Given the description of an element on the screen output the (x, y) to click on. 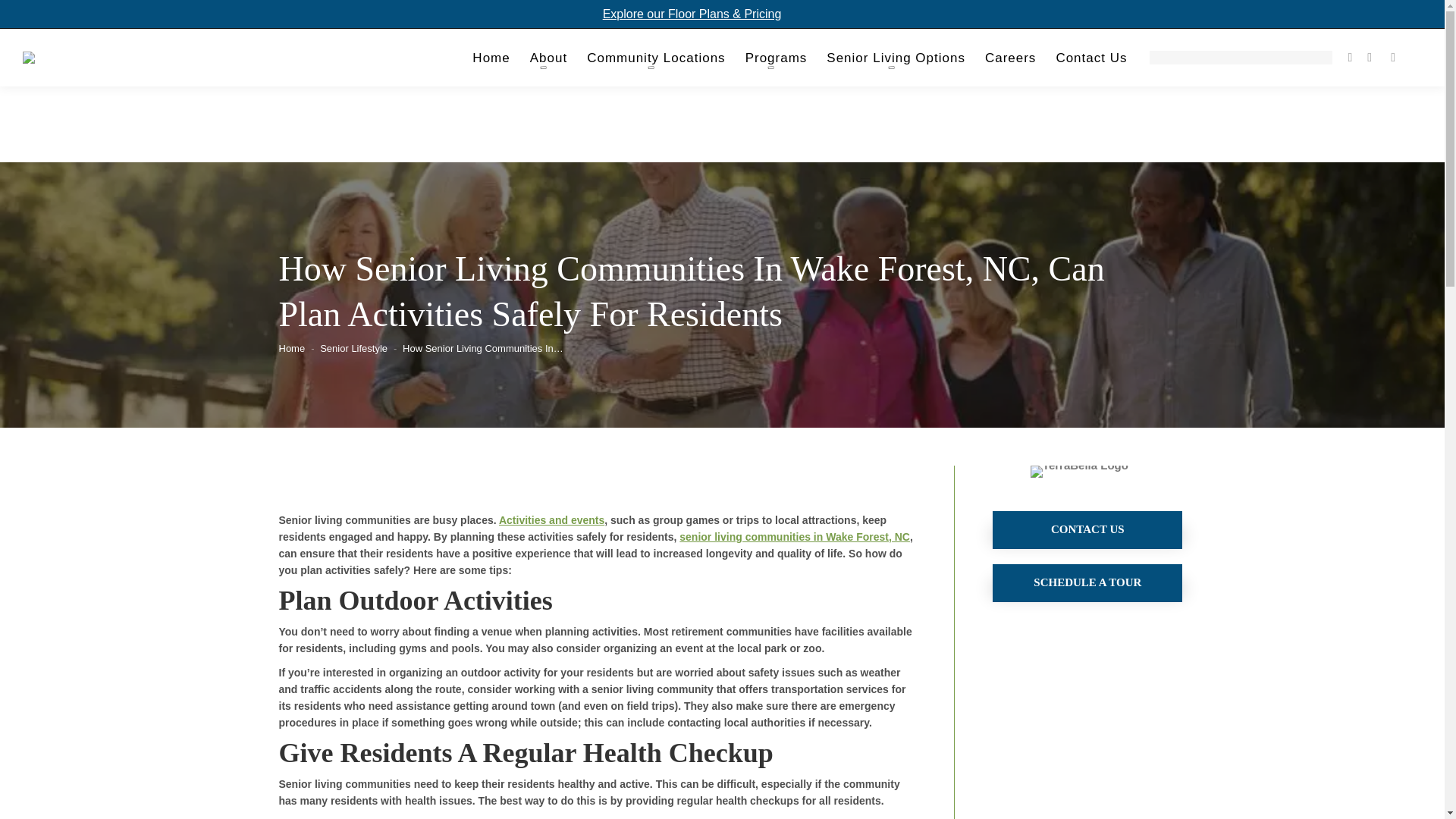
Contact Us (1087, 528)
Community Locations (655, 61)
TerraBella Logo (1079, 471)
